Given the description of an element on the screen output the (x, y) to click on. 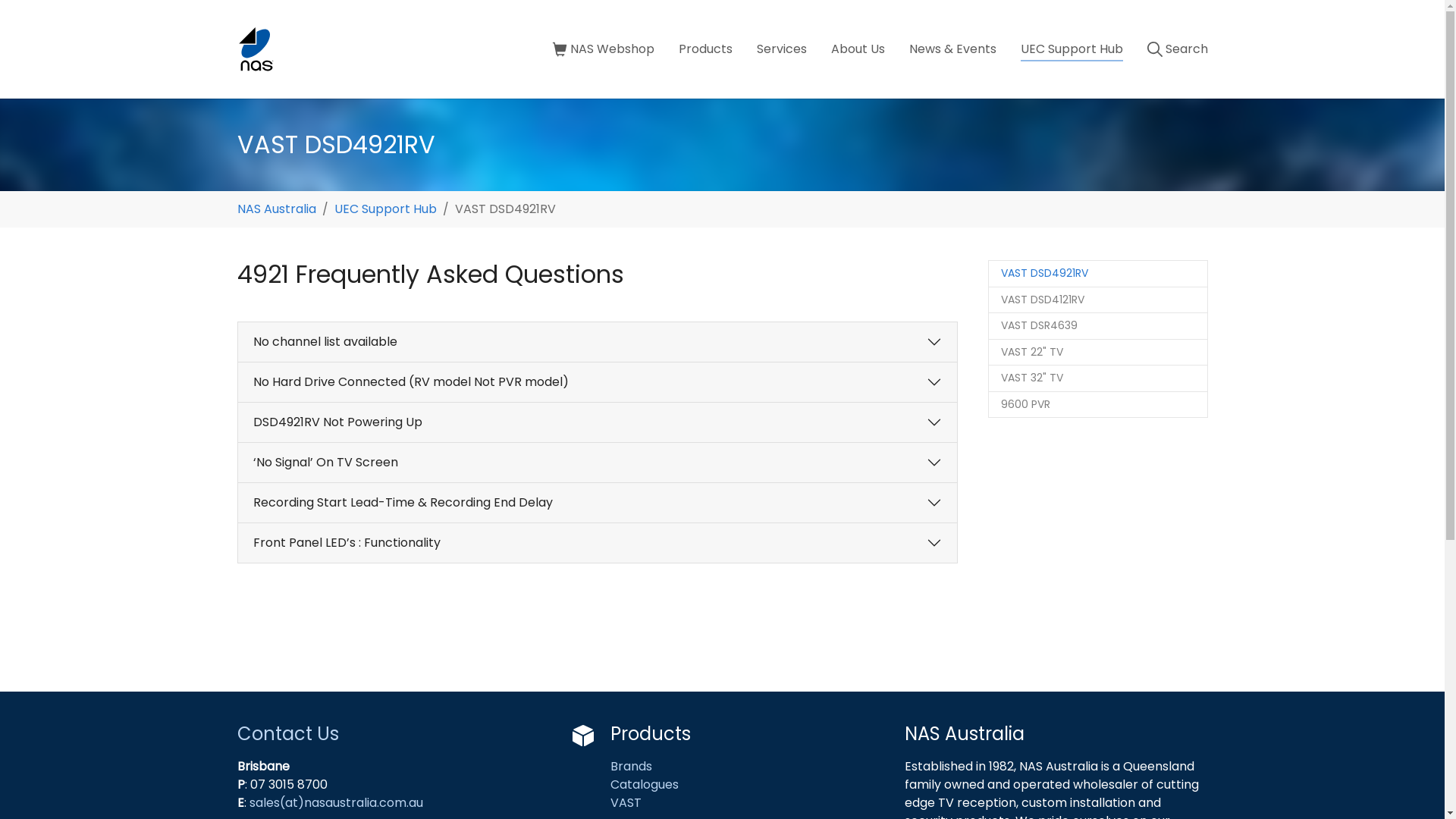
Services Element type: text (781, 49)
No Hard Drive Connected (RV model Not PVR model) Element type: text (597, 381)
VAST 32" TV Element type: text (1097, 378)
No channel list available Element type: text (597, 341)
Search Element type: text (1176, 49)
Contact Us Element type: text (287, 733)
Company GmbH Element type: hover (255, 49)
Catalogues  Element type: text (644, 784)
Recording Start Lead-Time & Recording End Delay Element type: text (597, 502)
sales(at)nasaustralia.com.au Element type: text (335, 802)
News & Events Element type: text (951, 49)
About Us Element type: text (858, 49)
UEC Support Hub Element type: text (1071, 49)
Brands Element type: text (630, 766)
9600 PVR Element type: text (1097, 404)
VAST DSD4921RV
(current) Element type: text (1097, 273)
VAST DSR4639 Element type: text (1097, 325)
Products Element type: text (704, 49)
VAST 22" TV Element type: text (1097, 352)
VAST DSD4121RV Element type: text (1097, 299)
UEC Support Hub Element type: text (384, 208)
NAS Australia Element type: text (275, 208)
VAST Element type: text (624, 802)
NAS Webshop Element type: text (602, 49)
DSD4921RV Not Powering Up Element type: text (597, 422)
